Given the description of an element on the screen output the (x, y) to click on. 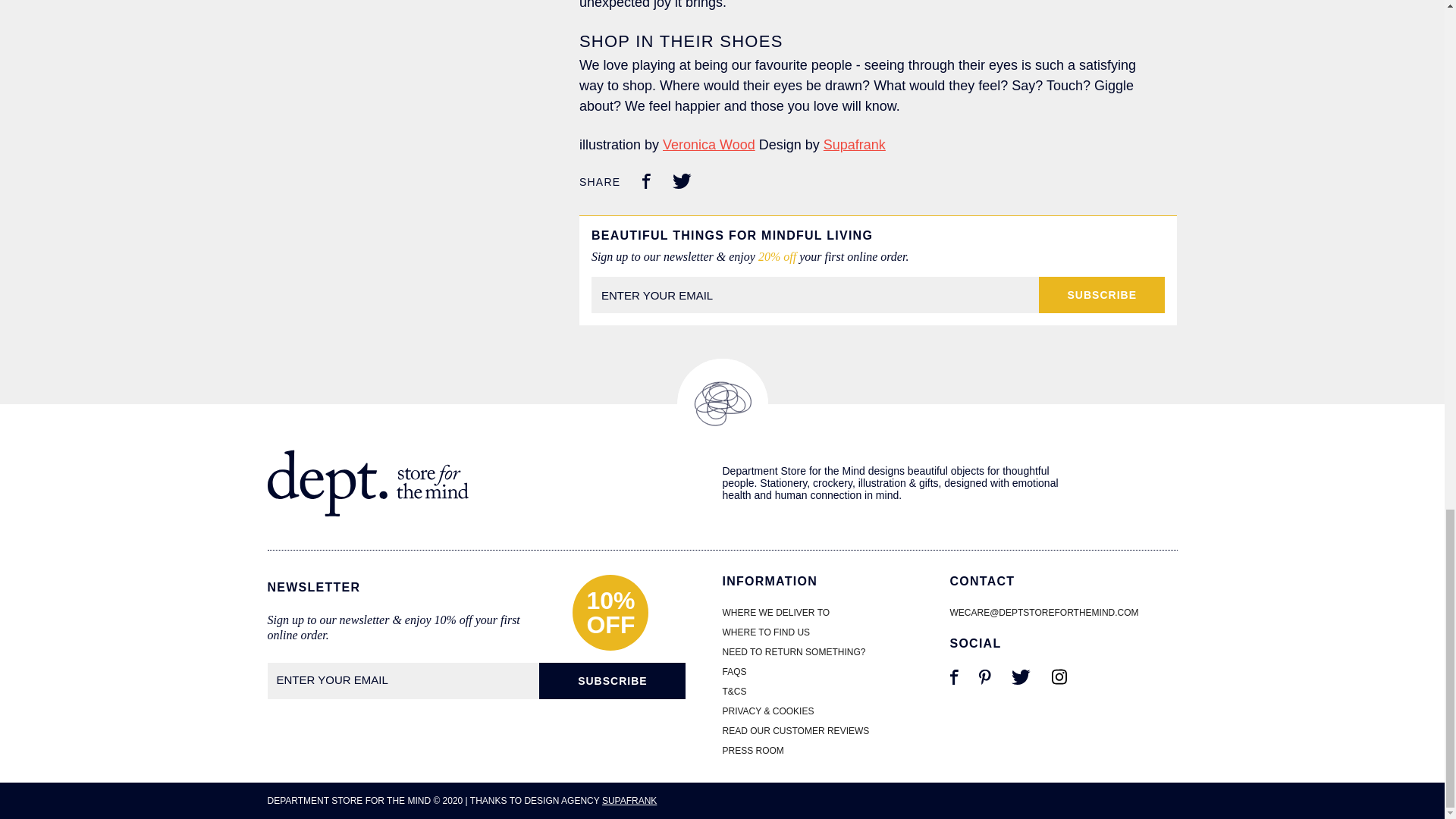
SUBSCRIBE (611, 680)
PINTEREST (984, 681)
NEED TO RETURN SOMETHING? (793, 652)
INSTAGRAM (1059, 681)
SUBSCRIBE (1101, 294)
Supafrank (854, 144)
FAQS (733, 671)
TWITTER (1020, 681)
PRESS ROOM (752, 750)
SUPAFRANK (629, 800)
